Given the description of an element on the screen output the (x, y) to click on. 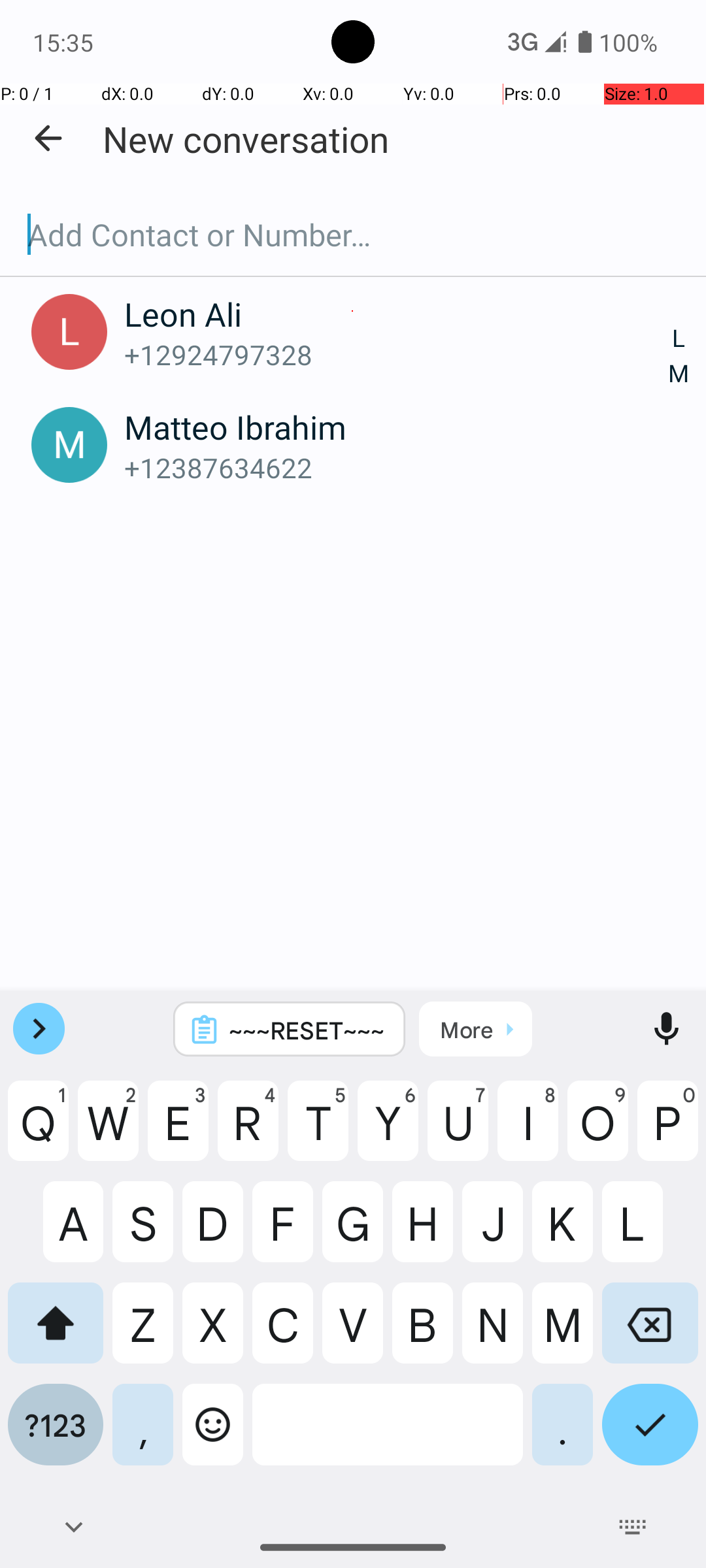
New conversation Element type: android.widget.TextView (245, 138)
L
M Element type: android.widget.TextView (678, 356)
Leon Ali Element type: android.widget.TextView (397, 313)
+12924797328 Element type: android.widget.TextView (397, 354)
Matteo Ibrahim Element type: android.widget.TextView (397, 426)
+12387634622 Element type: android.widget.TextView (397, 467)
